Given the description of an element on the screen output the (x, y) to click on. 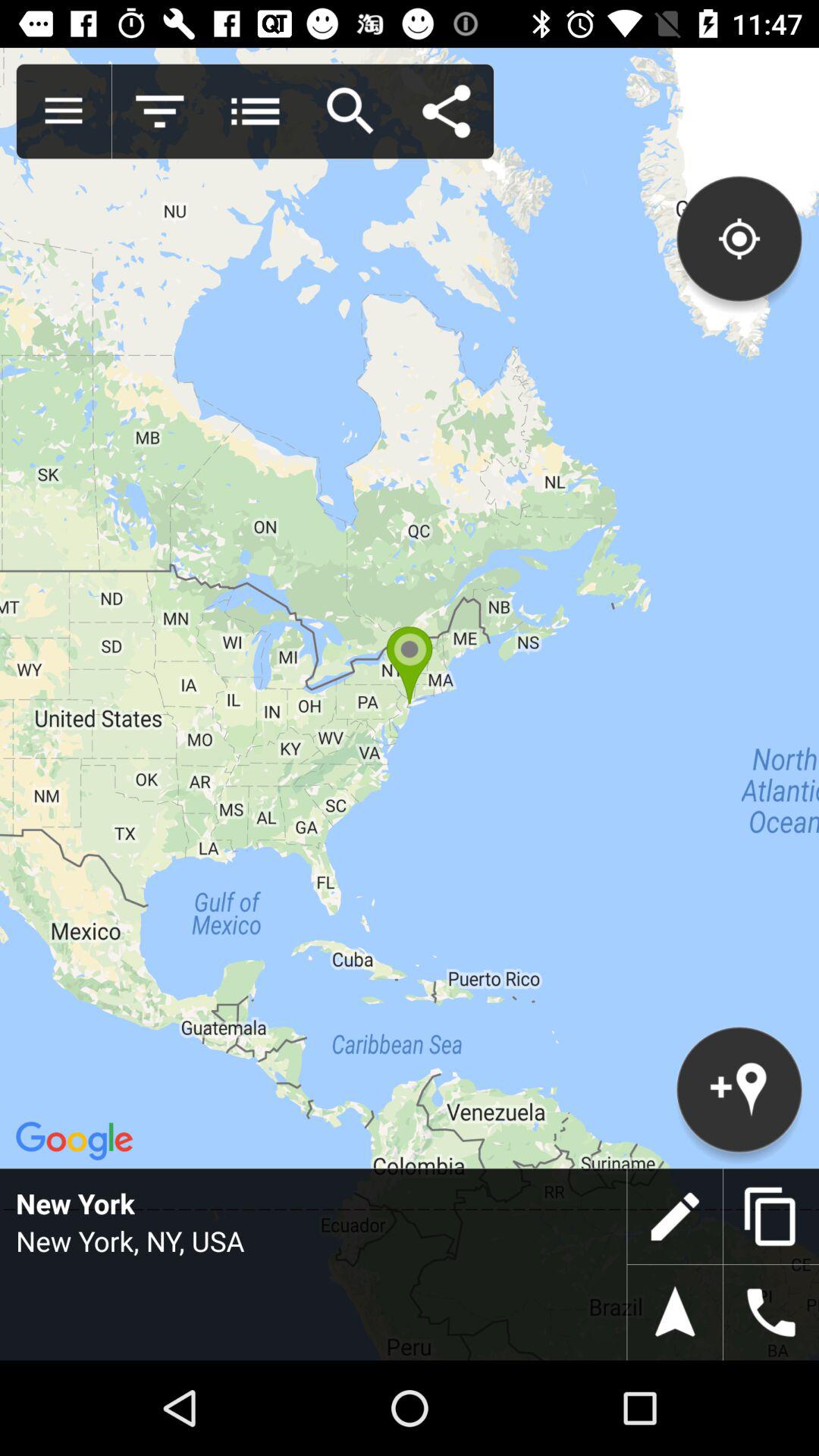
search icon (350, 111)
